Given the description of an element on the screen output the (x, y) to click on. 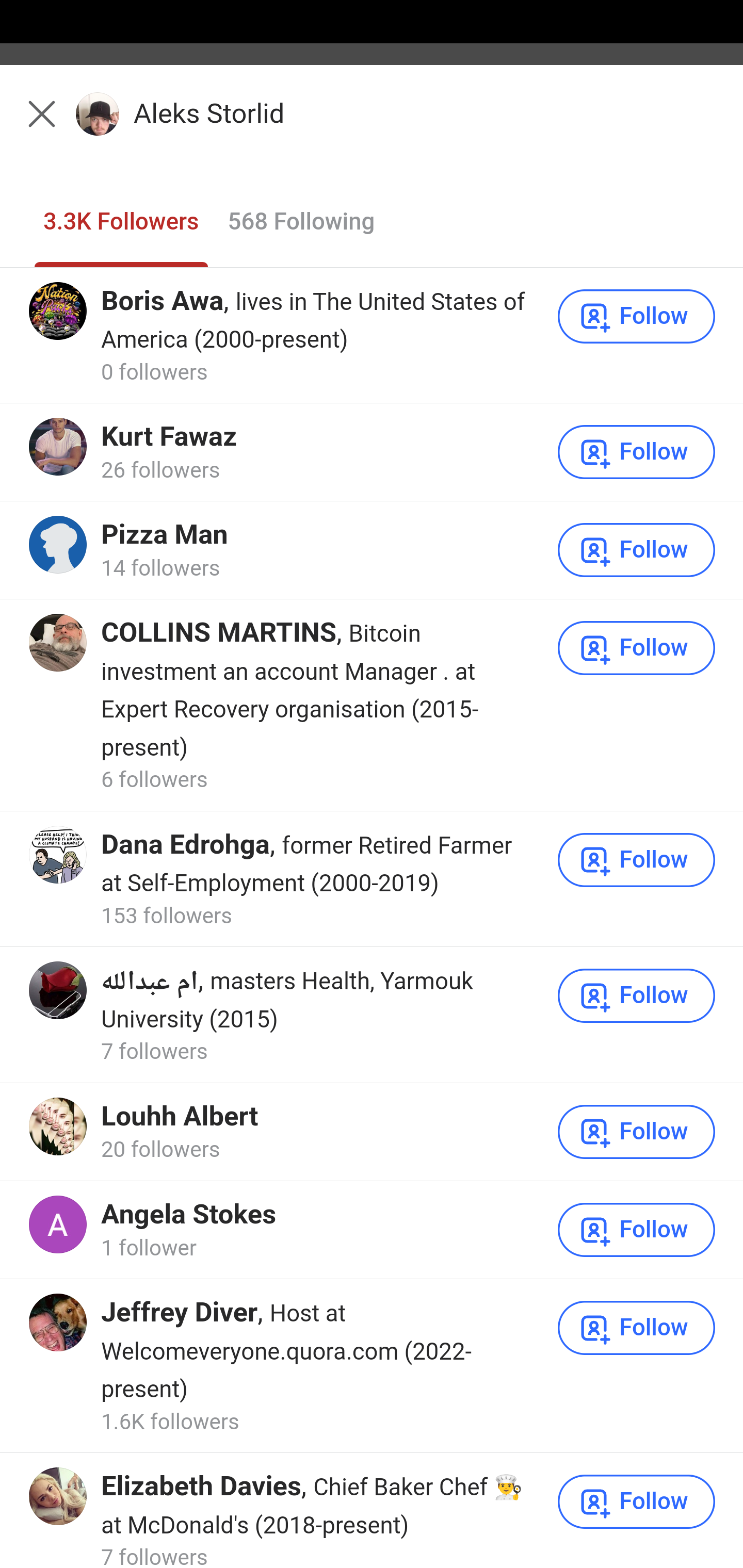
Back Aleks Storlid (371, 125)
